Given the description of an element on the screen output the (x, y) to click on. 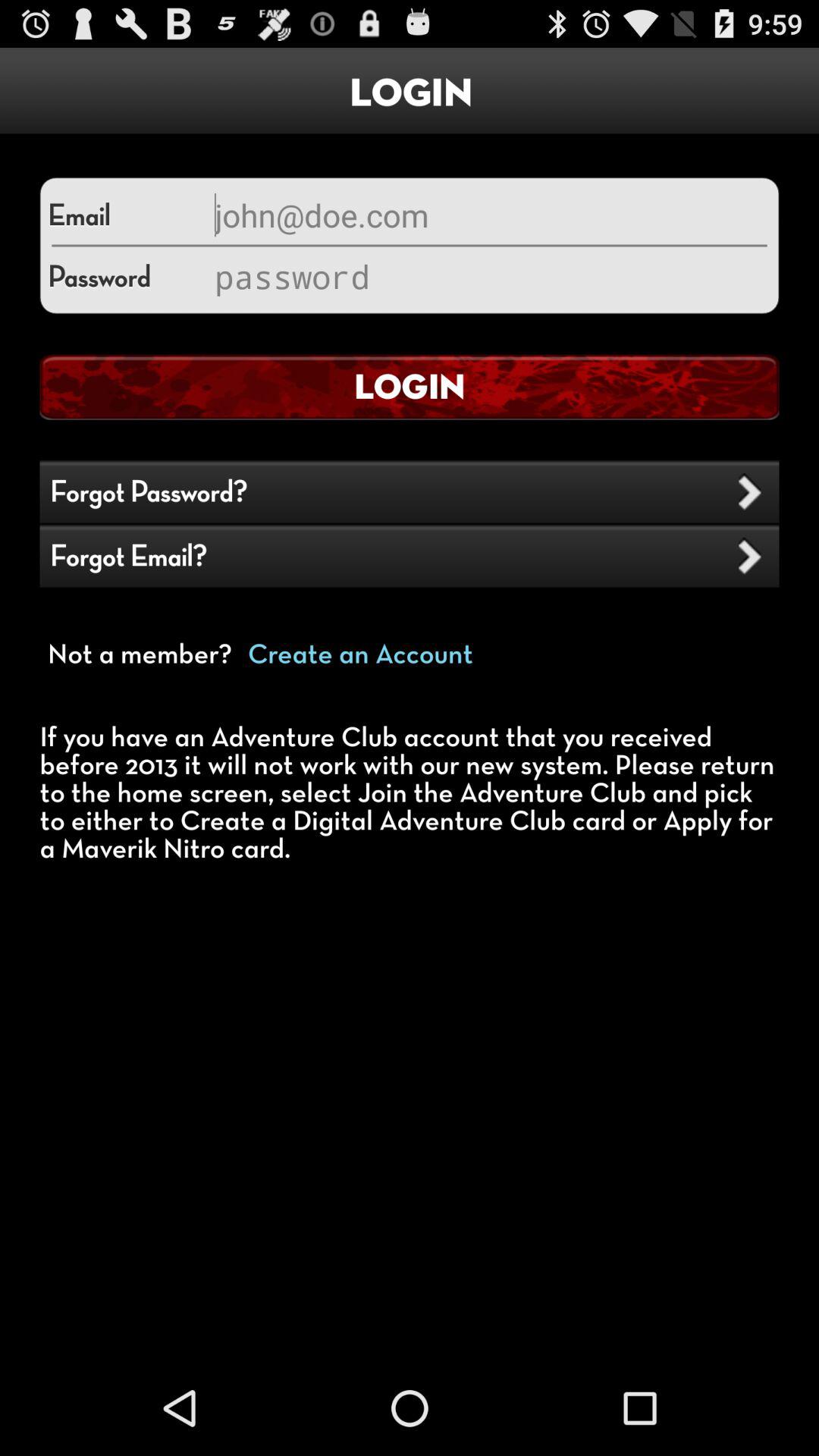
go to email section (489, 214)
